Given the description of an element on the screen output the (x, y) to click on. 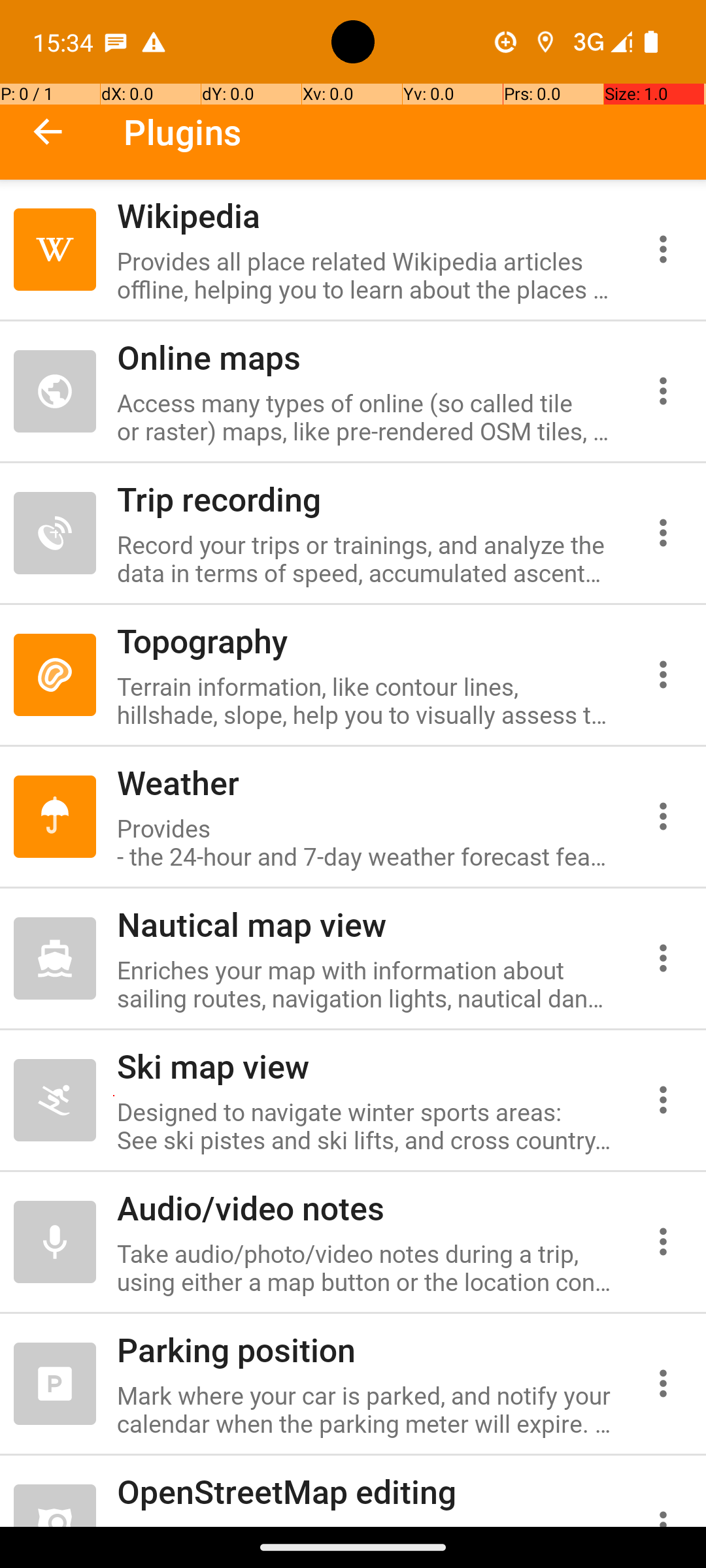
Plugins Element type: android.widget.TextView (182, 131)
Disable Element type: android.widget.ImageButton (54, 249)
Wikipedia Element type: android.widget.TextView (365, 215)
Provides all place related Wikipedia articles offline, helping you to learn about the places you visit on your trip by simple taps on the map. Don't forget to download the Wikipedia map files for the respective regions. Element type: android.widget.TextView (365, 274)
More… Element type: android.widget.ImageButton (663, 249)
Enable Element type: android.widget.ImageButton (54, 391)
Online maps Element type: android.widget.TextView (365, 356)
Access many types of online (so called tile or raster) maps, like pre-rendered OSM tiles, satellite images, and special purpose layers like weather maps, climate maps, geological maps, hillshade layers, etc.

 Any of these maps can be displayed as the main (base) map, or as an overlay or underlay to another base map (like OsmAnd's offline vector maps). Certain elements of the OsmAnd vector maps can be hidden via the 'Configure map' menu to make any underlay map more visible.

 Download tile maps directly, or copy them as SQLite database files to OsmAnd's data folder using one of the many third-party map preparation tools. Element type: android.widget.TextView (365, 416)
Trip recording Element type: android.widget.TextView (365, 498)
Record your trips or trainings, and analyze the data in terms of speed, accumulated ascents and descents, elevation profile, etc. Recorded tracks can be archived, shared with friends, edited, and post-processed.

Further reading at https://osmand.net/docs/user/plugins/trip-recording. Element type: android.widget.TextView (365, 558)
Topography Element type: android.widget.TextView (365, 640)
Terrain information, like contour lines, hillshade, slope, help you to visually assess the lay of the land, the relief, navigability, and more. The topographic information can on the map be represented by contour lines, relief shading and/or steepness coloring.

The underlying data originates from SRTM and ASTER.

Further reading at http://osmand.net/docs/user/plugins/contour-lines. Element type: android.widget.TextView (365, 700)
Weather Element type: android.widget.TextView (365, 782)
Provides
- the 24-hour and 7-day weather forecast featuring 5 layers
- location-based widgets
- the temperature / pressure isolines

The weather data is provided by the Global Forecast System (GFS, https://www.ncei.noaa.gov/products/weather-climate-models/global-forecast). Element type: android.widget.TextView (365, 841)
Nautical map view Element type: android.widget.TextView (365, 924)
Enriches your map with information about sailing routes, navigation lights, nautical danger zones, zones with sailing or docking restrictions, etc. To use, download the respective Nautical maps and enable the "Nautical map" style under "Configure map". 

Further reading at https://osmand.net/docs/user/plugins/nautical-charts. Element type: android.widget.TextView (365, 983)
Ski map view Element type: android.widget.TextView (365, 1065)
Designed to navigate winter sports areas: See ski pistes and ski lifts, and cross country ski tracks, with colored lines indicating the difficulty ratings. To use, enable this plugin and also go to "Configure map" and choose the "Winter and ski" map style. Element type: android.widget.TextView (365, 1125)
Audio/video notes Element type: android.widget.TextView (365, 1207)
Take audio/photo/video notes during a trip, using either a map button or the location context menu. Element type: android.widget.TextView (365, 1267)
Parking position Element type: android.widget.TextView (365, 1349)
Mark where your car is parked, and notify your calendar when the parking meter will expire. To place the marker, choose a place on the map, go to "Actions", and tap "Add parking". Element type: android.widget.TextView (365, 1408)
OpenStreetMap editing Element type: android.widget.TextView (365, 1491)
Make contributions to OpenStreetMap, a global community maintaining a comprehensive map of the world and providing up-to date open-source data to every user. 

You can find instructions on how to edit the map on our website https://osmand.net/docs/user/plugins/osm-editing. Element type: android.widget.TextView (365, 1523)
